Given the description of an element on the screen output the (x, y) to click on. 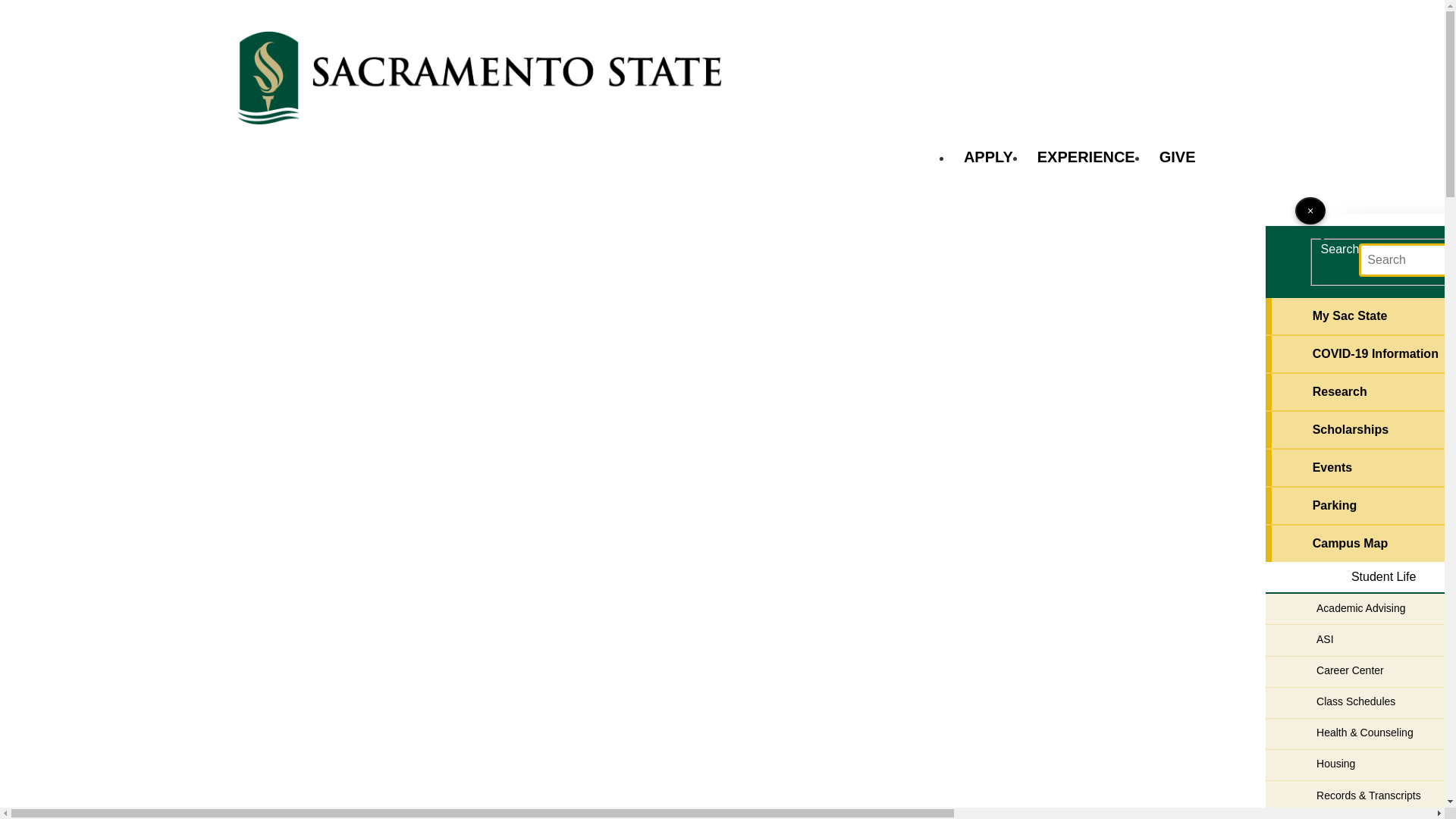
Sport Clubs (1360, 815)
COVID-19 Information (1360, 353)
Student Life (1360, 577)
Scholarships (1360, 429)
APPLY (988, 156)
Events (1360, 467)
Search CSUS.edu (1407, 259)
Housing (1360, 765)
Parking (1360, 505)
EXPERIENCE (1086, 156)
